Given the description of an element on the screen output the (x, y) to click on. 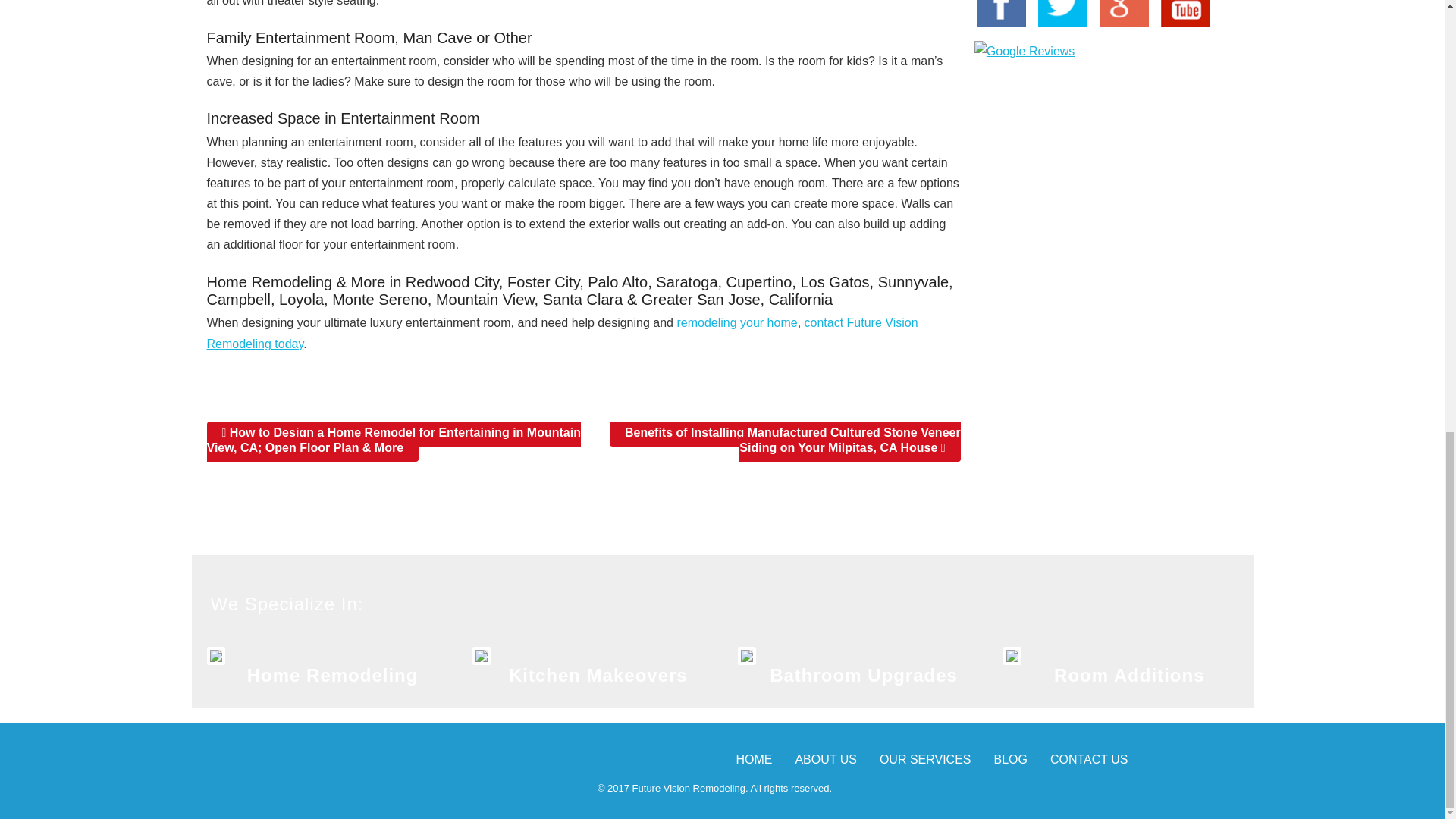
remodeling your home (736, 322)
contact Future Vision Remodeling today (561, 332)
